Given the description of an element on the screen output the (x, y) to click on. 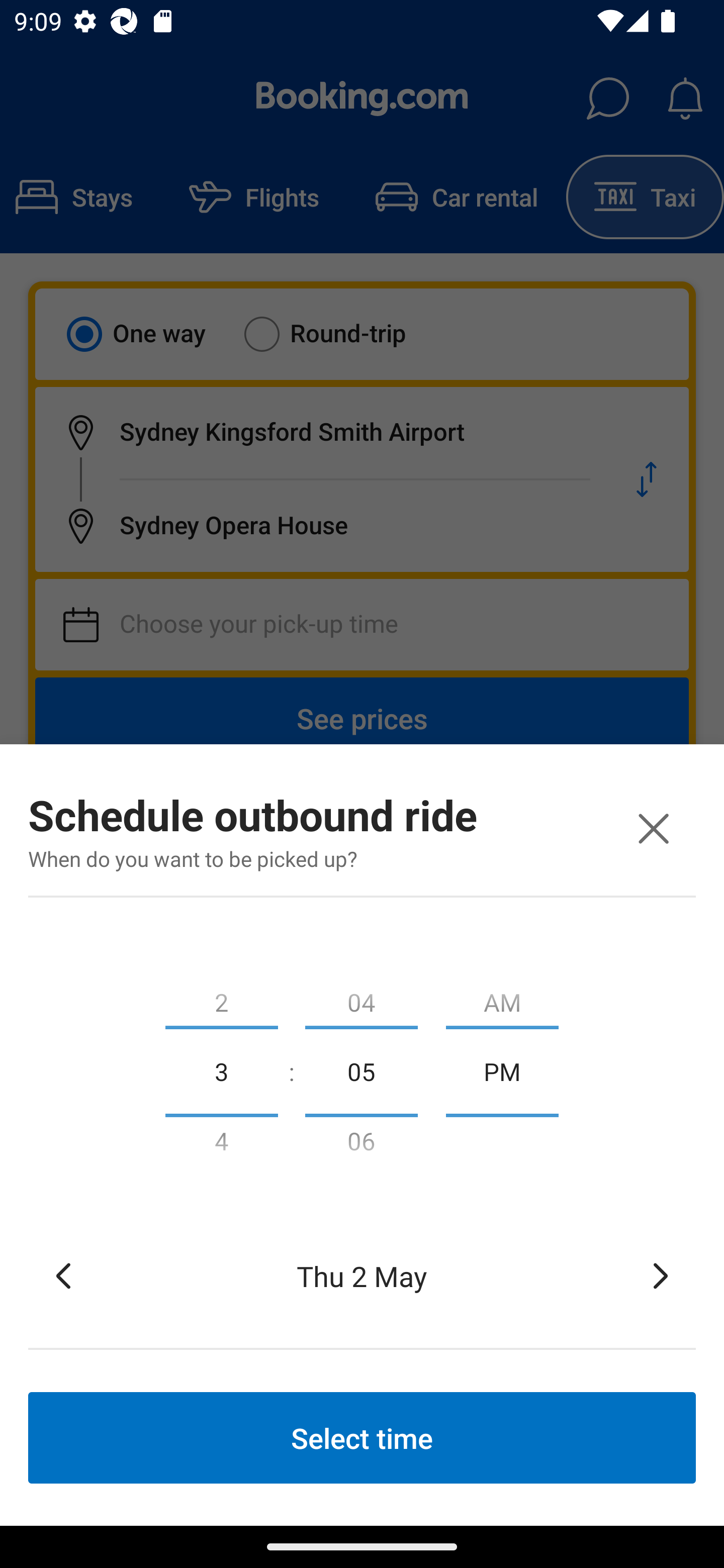
Close window (653, 828)
2 (221, 997)
04 (361, 997)
AM (501, 997)
3 (221, 1070)
05 (361, 1070)
PM (501, 1070)
4 (221, 1144)
06 (361, 1144)
Tap to move back to the previous date (63, 1275)
Tap to move forward to the next date (660, 1275)
Thu 2 May Selected date, Thursday, 2 May (361, 1275)
Select time (361, 1437)
